Given the description of an element on the screen output the (x, y) to click on. 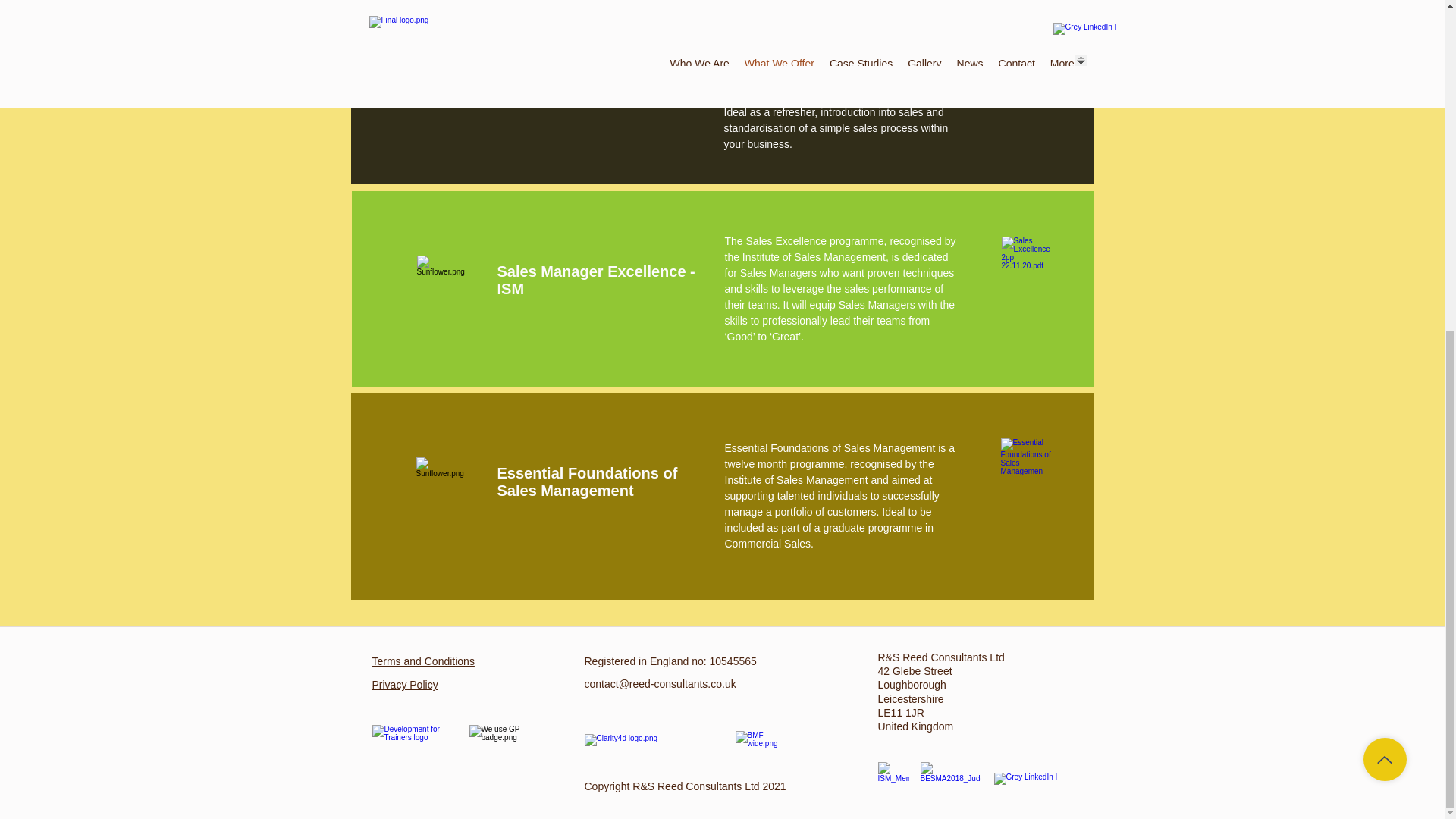
Privacy Policy (404, 684)
Sales Fast Track Giraffe 4pp.pdf (1024, 18)
Terms and Conditions (422, 661)
